Given the description of an element on the screen output the (x, y) to click on. 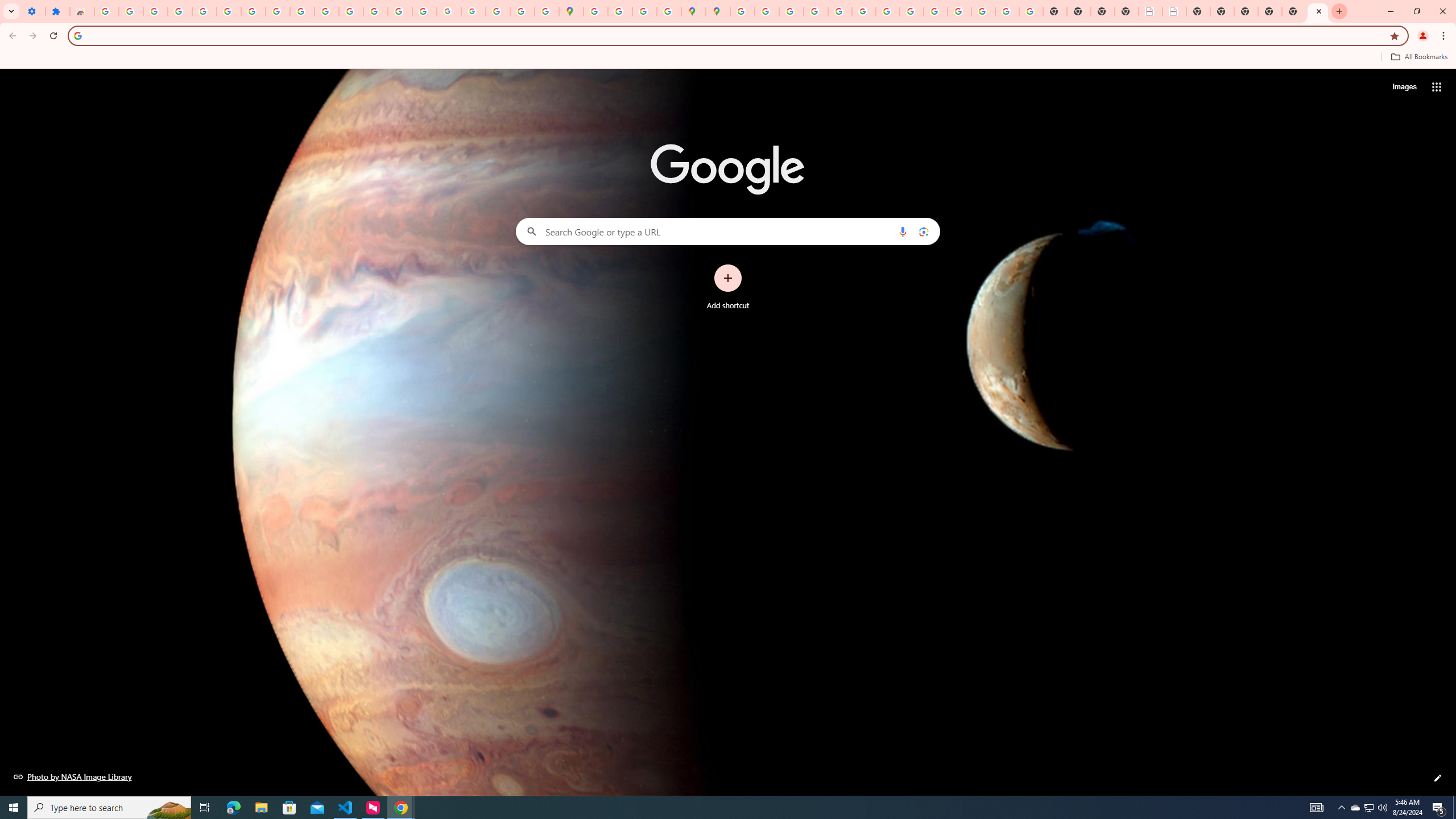
Delete photos & videos - Computer - Google Photos Help (155, 11)
BAE Systems Brasil | BAE Systems (1174, 11)
https://scholar.google.com/ (350, 11)
Sign in - Google Accounts (228, 11)
